Given the description of an element on the screen output the (x, y) to click on. 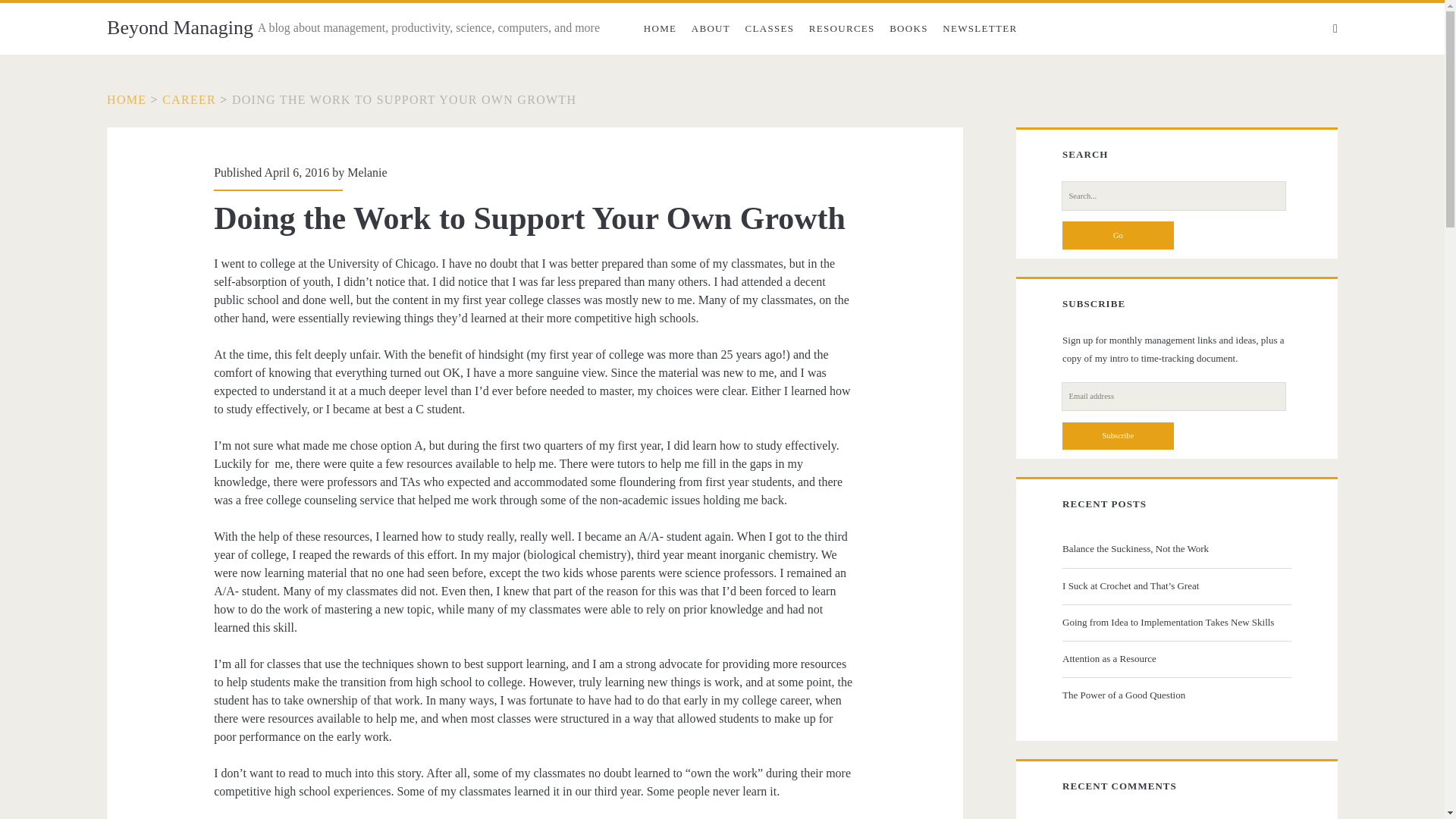
RESOURCES (842, 28)
NEWSLETTER (979, 28)
Going from Idea to Implementation Takes New Skills (1174, 622)
The Power of a Good Question (1174, 695)
CAREER (188, 99)
Home (126, 99)
Beyond Managing (179, 27)
CLASSES (770, 28)
Subscribe (1117, 435)
Go (1117, 234)
